Given the description of an element on the screen output the (x, y) to click on. 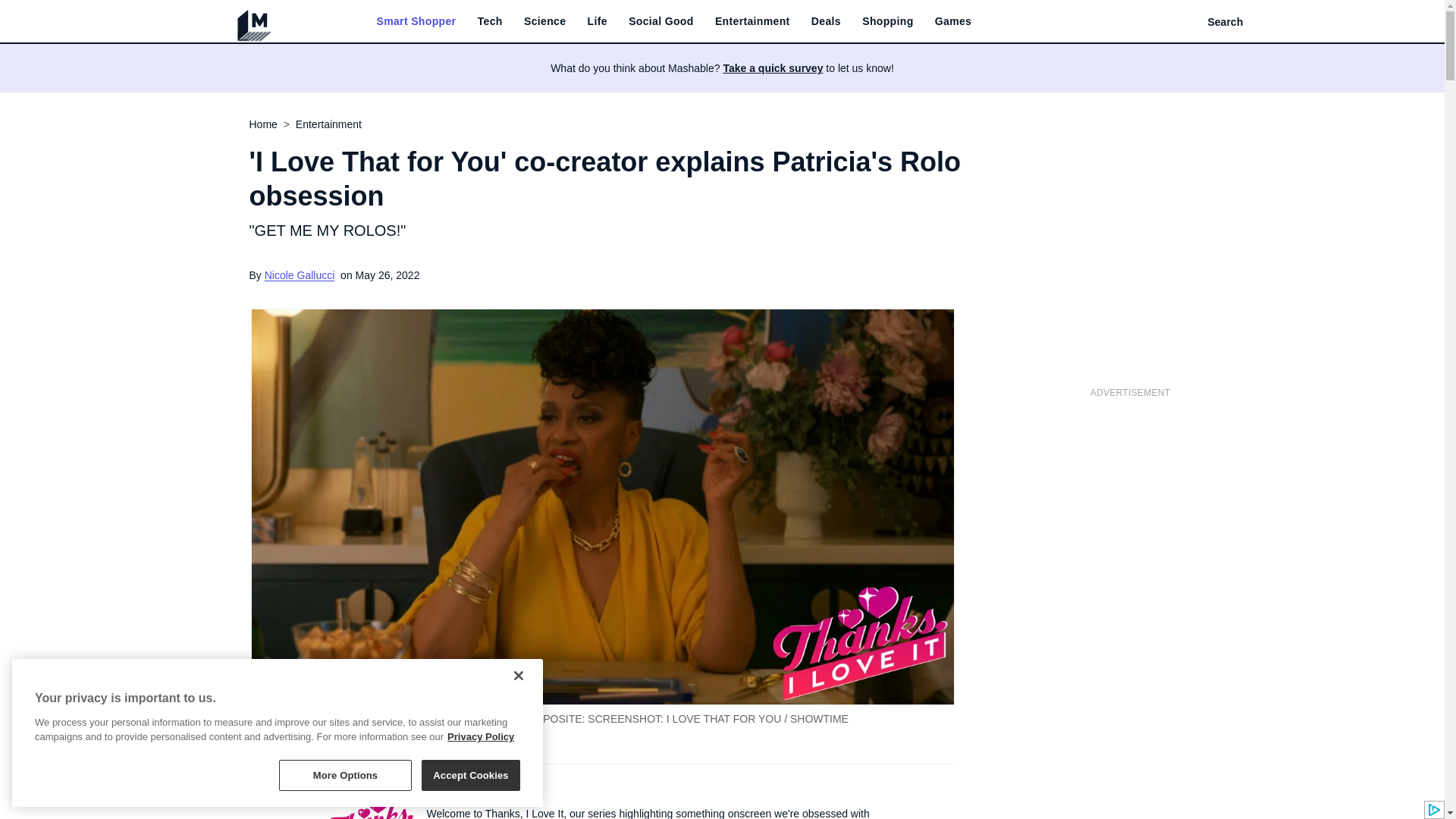
Tech (489, 21)
Shopping (886, 21)
Deals (825, 21)
Science (545, 21)
Games (952, 21)
Smart Shopper (415, 21)
Entertainment (752, 21)
Social Good (661, 21)
Life (597, 21)
